Given the description of an element on the screen output the (x, y) to click on. 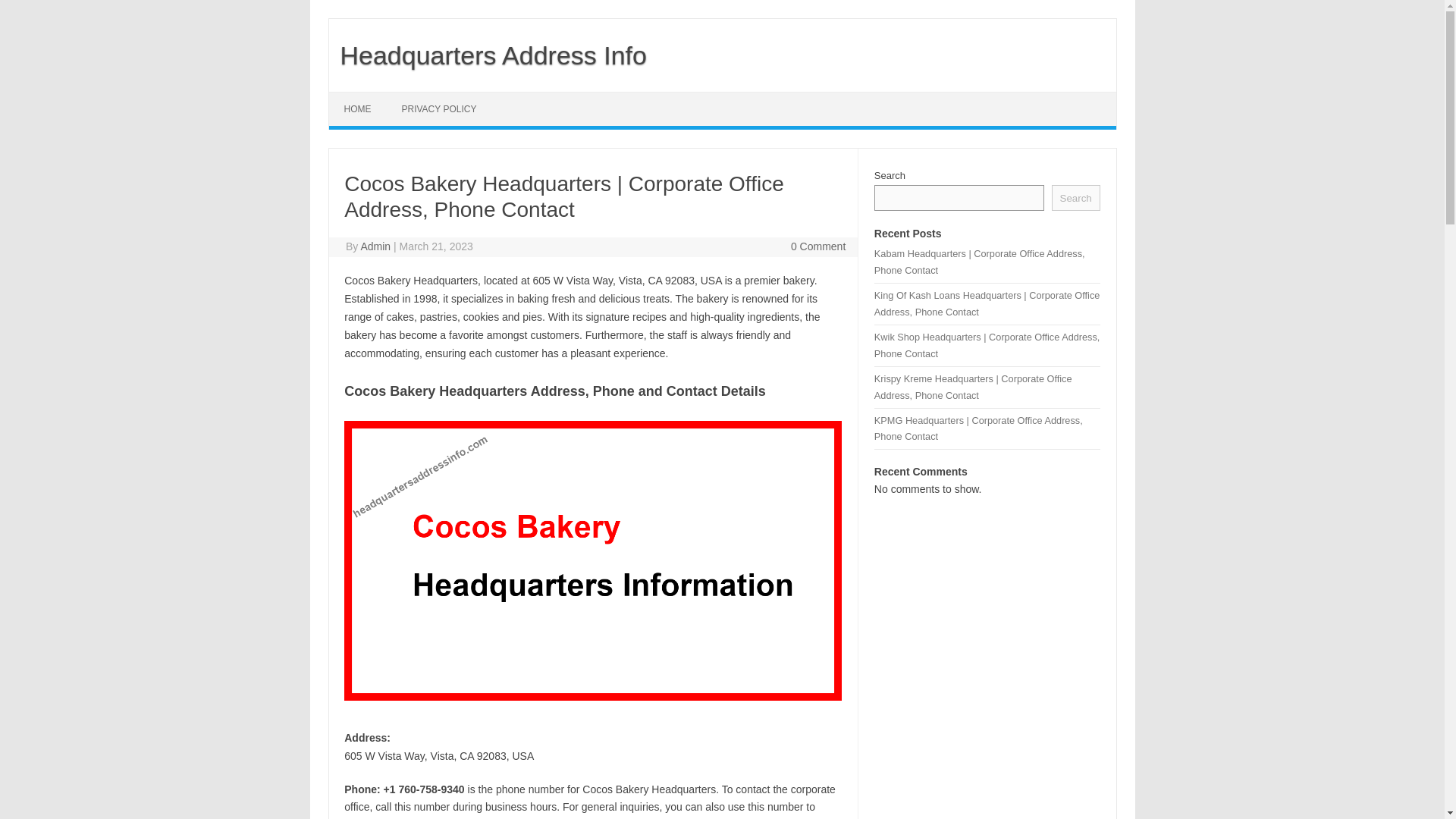
HOME (358, 109)
Posts by Admin (374, 246)
Headquarters Address Info (487, 54)
Search (1075, 197)
Admin (374, 246)
0 Comment (817, 246)
PRIVACY POLICY (439, 109)
Headquarters Address Info (487, 54)
Skip to content (363, 96)
Skip to content (363, 96)
